Given the description of an element on the screen output the (x, y) to click on. 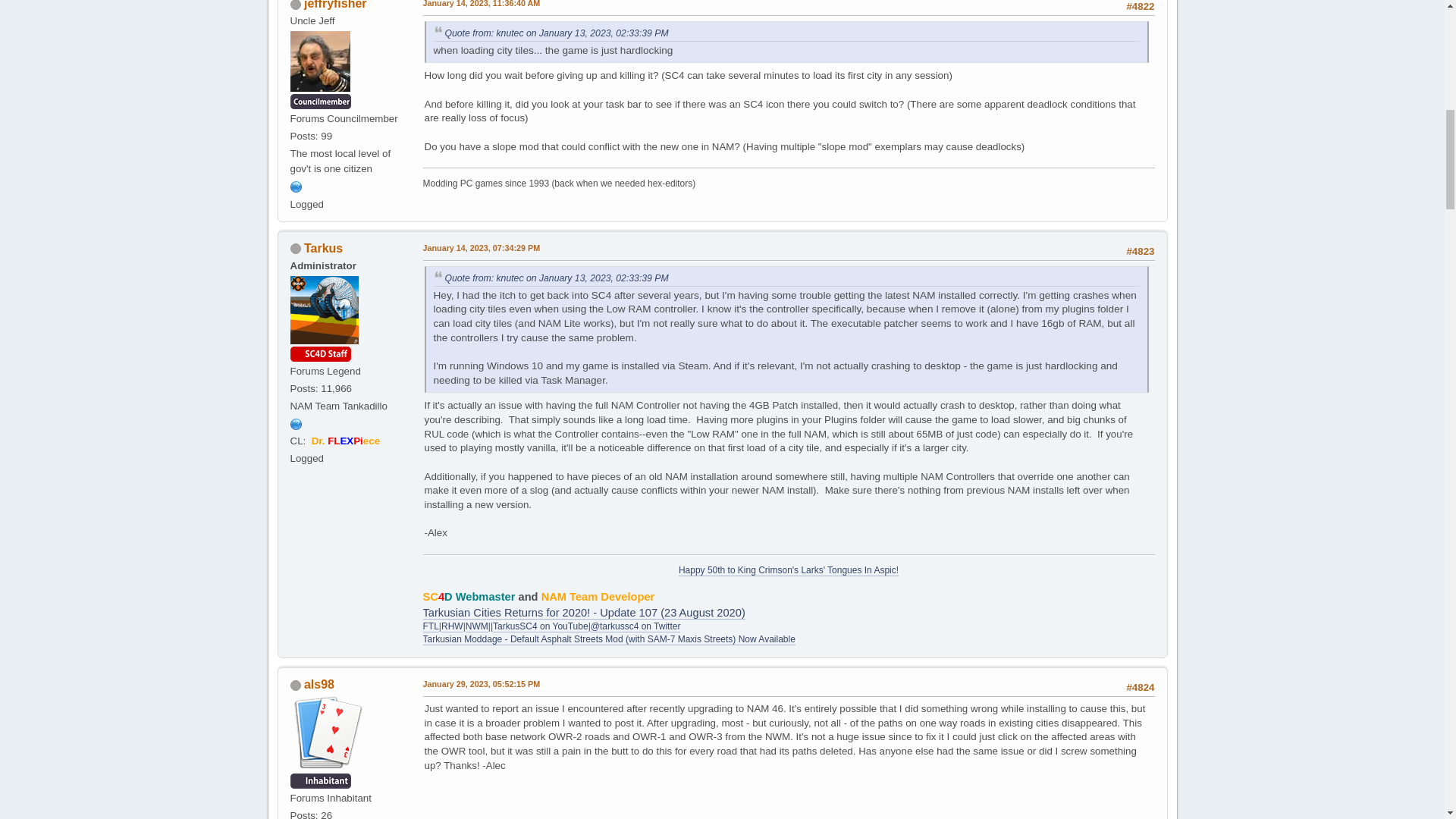
View the profile of jeffryfisher (335, 4)
Offline (294, 4)
Liberating Digital Content (295, 185)
Liberating Digital Content (295, 186)
